Given the description of an element on the screen output the (x, y) to click on. 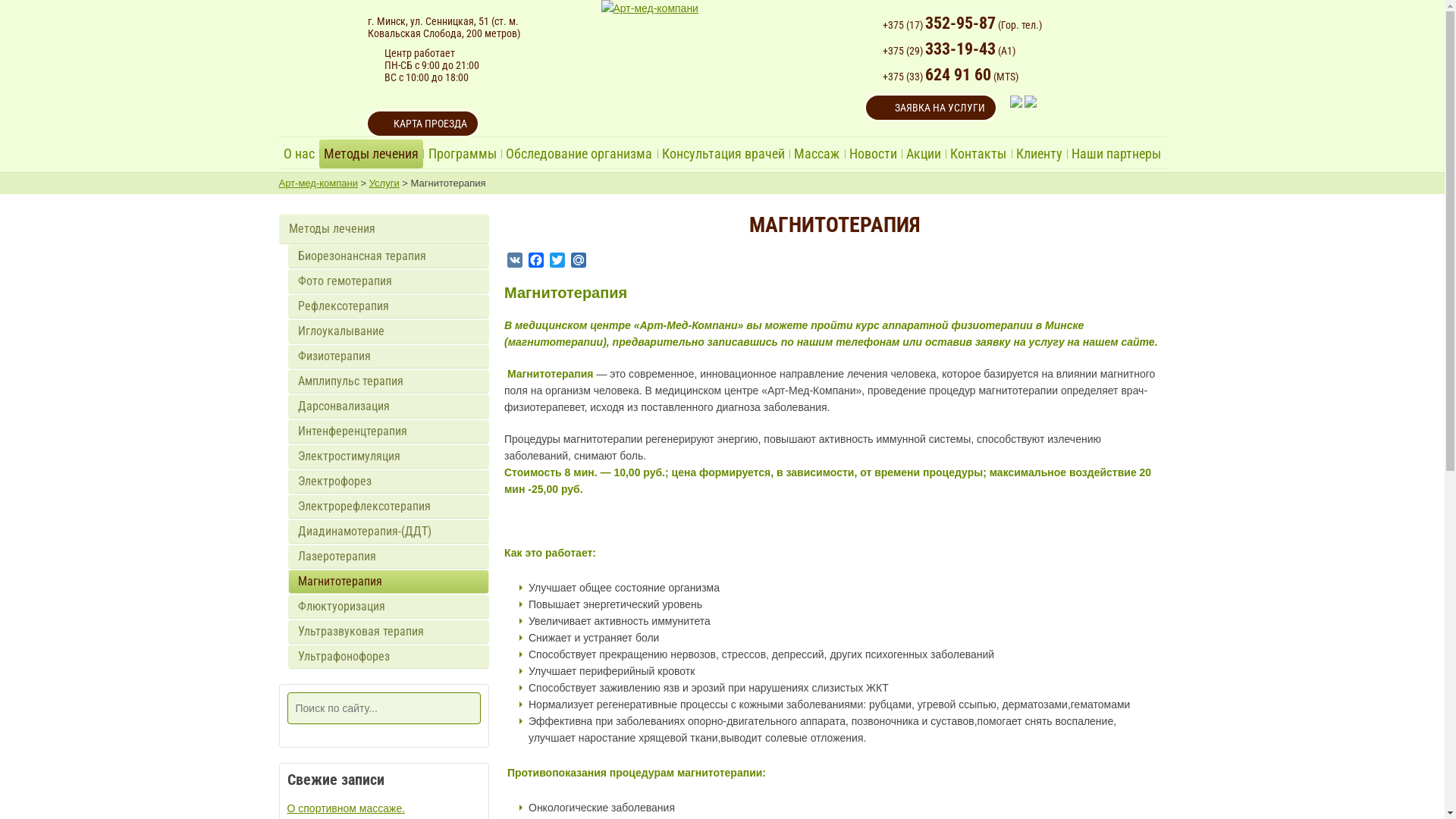
+375 (33) 624 91 60 (MTS) Element type: text (950, 76)
+375 (29) 333-19-43 (A1) Element type: text (948, 50)
Facebook Element type: text (535, 261)
Twitter Element type: text (556, 261)
VK Element type: text (514, 261)
Mail.Ru Element type: text (578, 261)
